Given the description of an element on the screen output the (x, y) to click on. 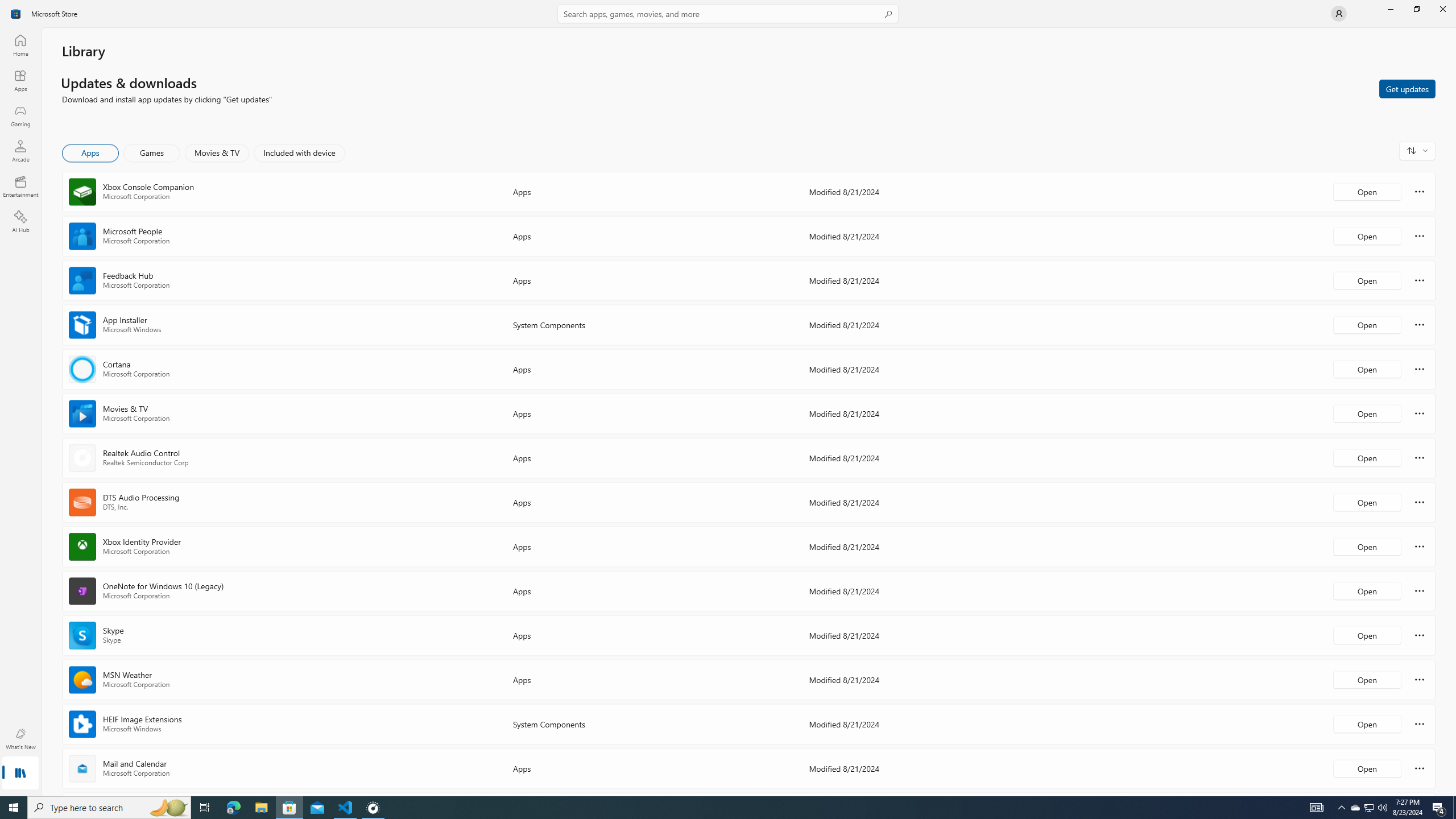
AutomationID: NavigationControl (728, 398)
Games (151, 153)
Get updates (1406, 88)
Movies & TV (216, 153)
